Given the description of an element on the screen output the (x, y) to click on. 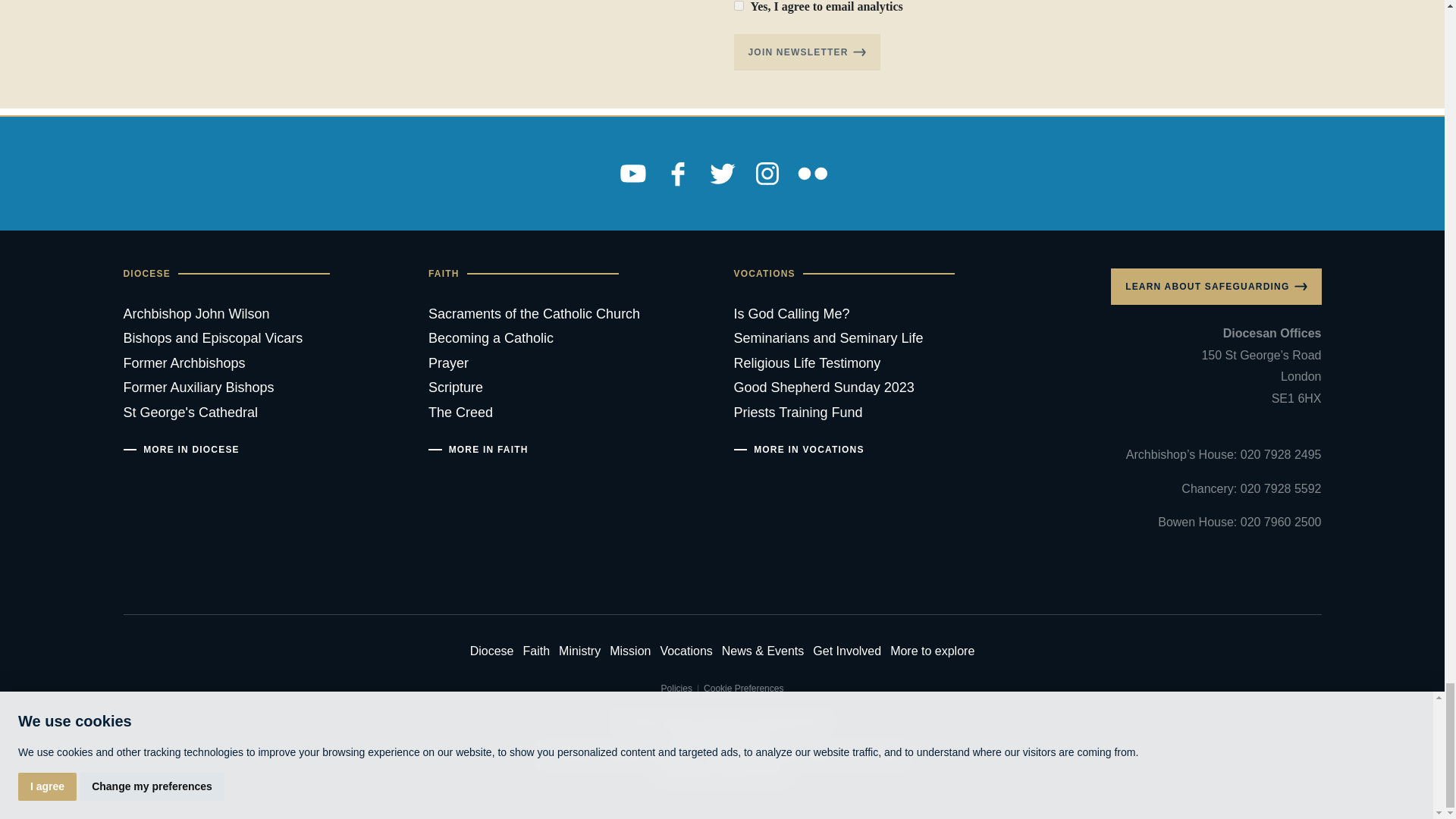
on (738, 5)
